Given the description of an element on the screen output the (x, y) to click on. 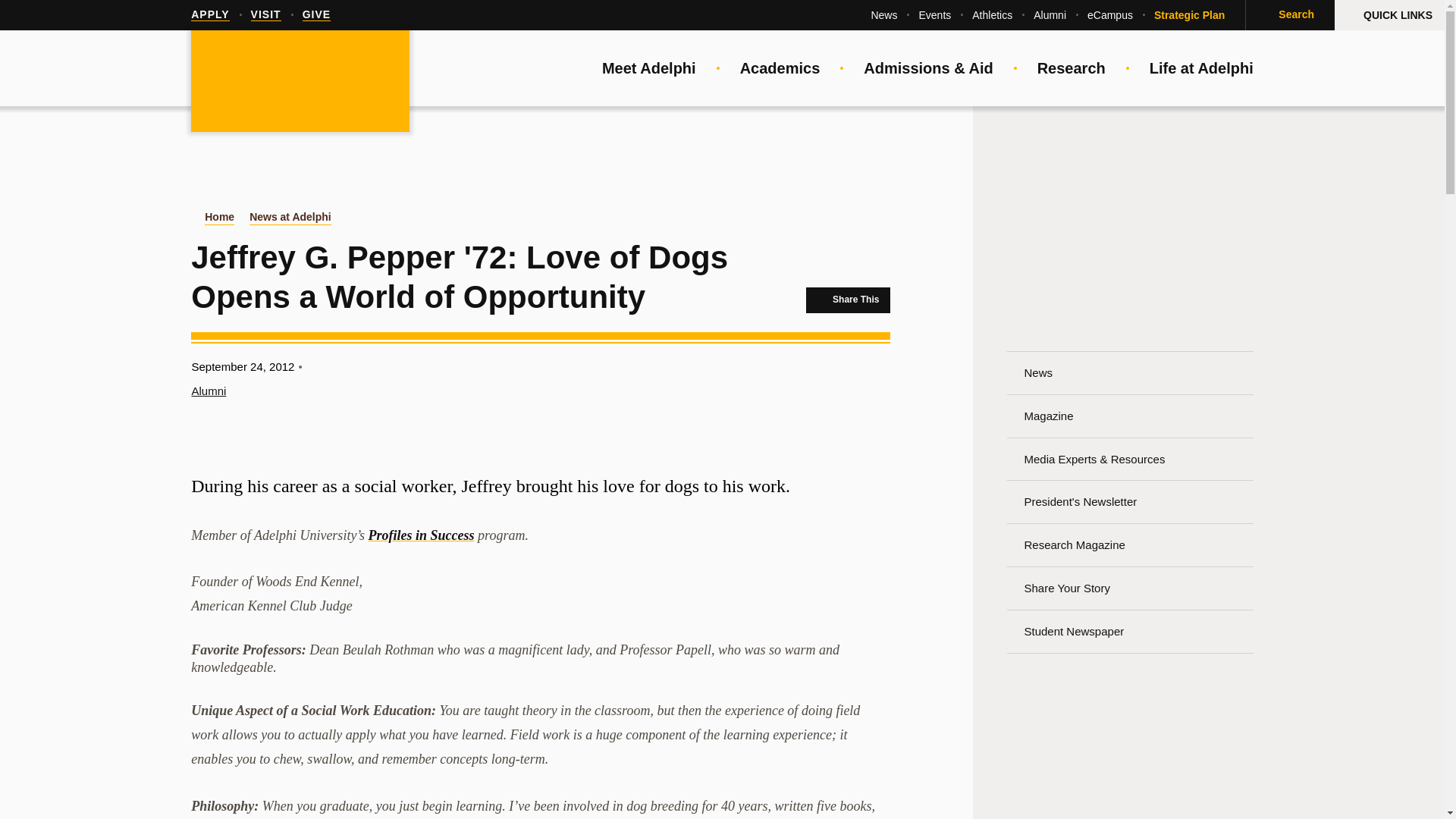
eCampus (1109, 15)
Strategic Plan (1189, 15)
Academics (780, 68)
Search (1289, 15)
News (883, 15)
Events (934, 15)
Alumni (1049, 15)
VISIT (265, 15)
Athletics (991, 15)
Adelphi University (299, 82)
